Given the description of an element on the screen output the (x, y) to click on. 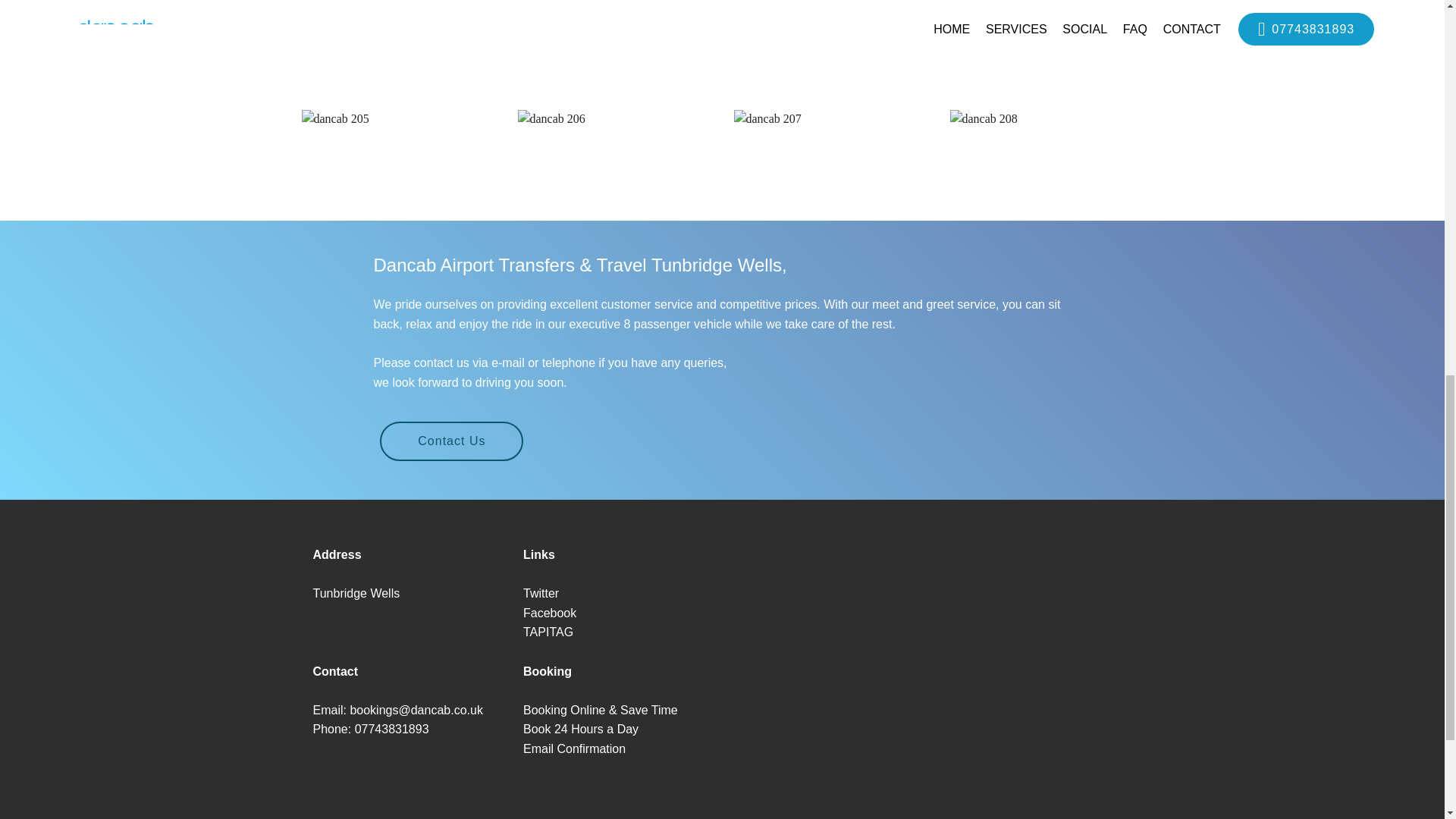
07743831893 (392, 728)
Twitter (540, 593)
Contact Us (451, 441)
Facebook (549, 612)
TAPITAG (547, 631)
